Given the description of an element on the screen output the (x, y) to click on. 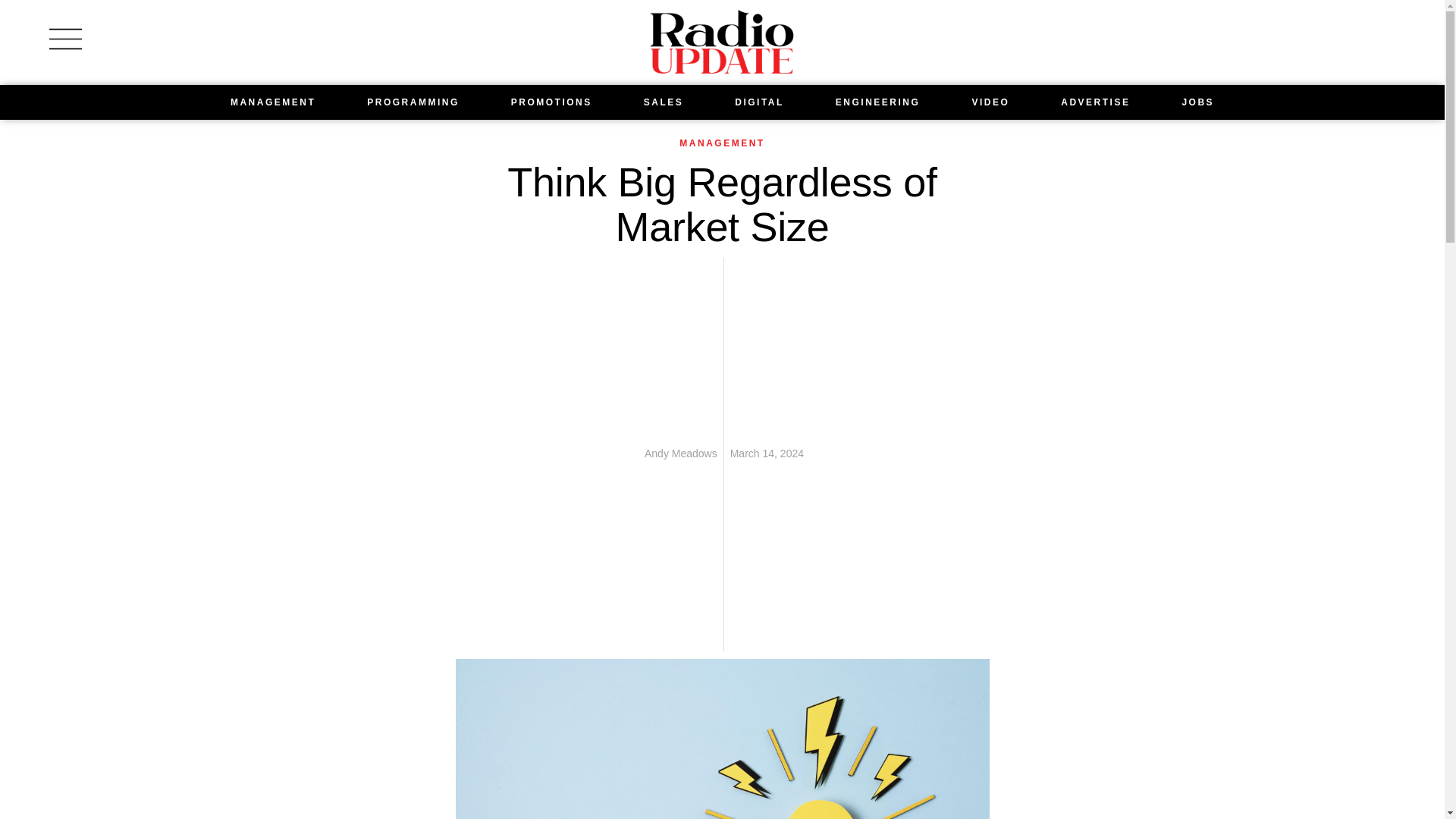
SALES (663, 102)
VIDEO (989, 102)
DIGITAL (759, 102)
ADVERTISE (1095, 102)
PROMOTIONS (550, 102)
MANAGEMENT (272, 102)
ENGINEERING (877, 102)
JOBS (1198, 102)
MANAGEMENT (721, 143)
PROGRAMMING (412, 102)
